Given the description of an element on the screen output the (x, y) to click on. 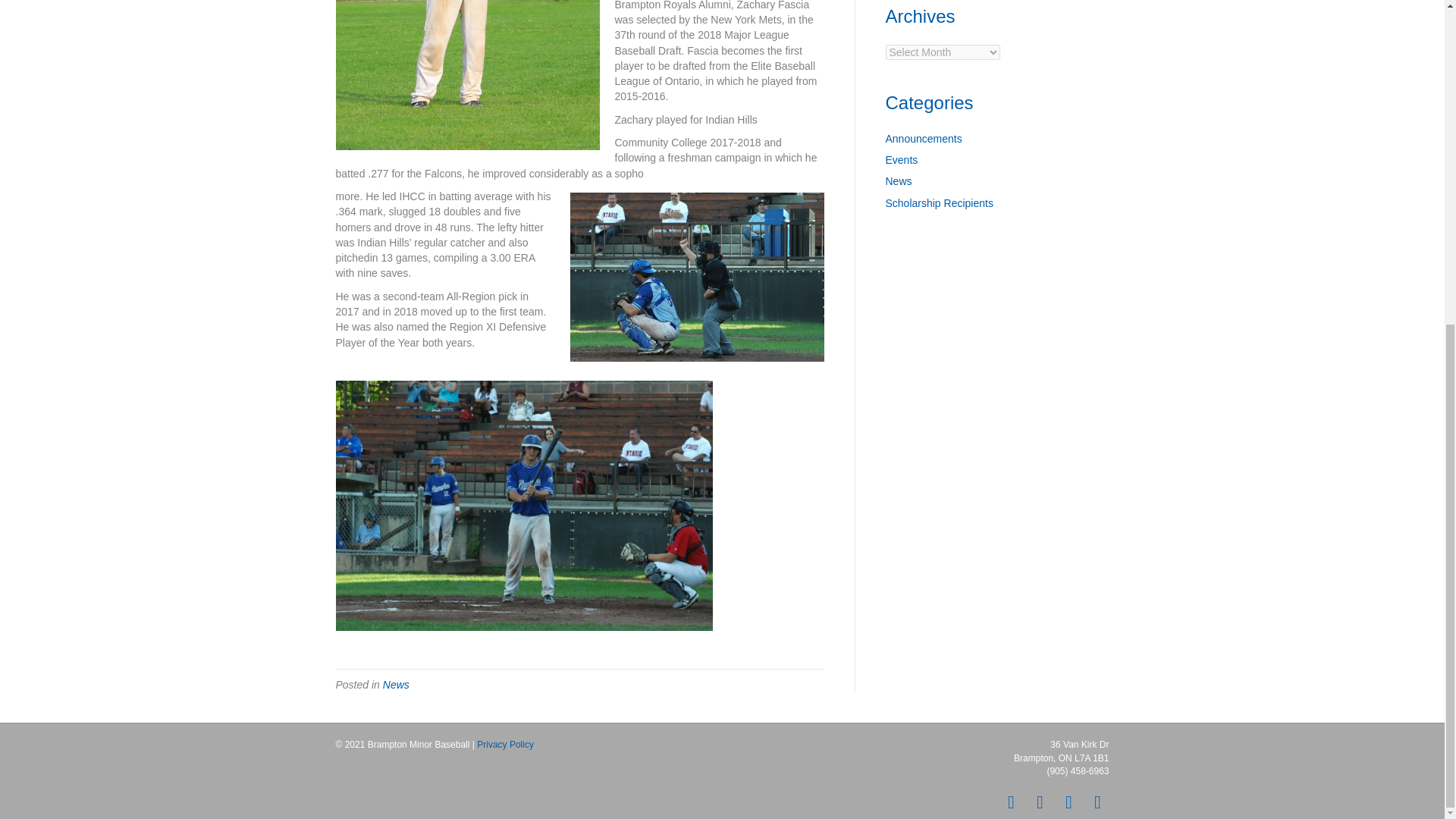
Announcements (923, 138)
News (898, 181)
Events (901, 159)
